Given the description of an element on the screen output the (x, y) to click on. 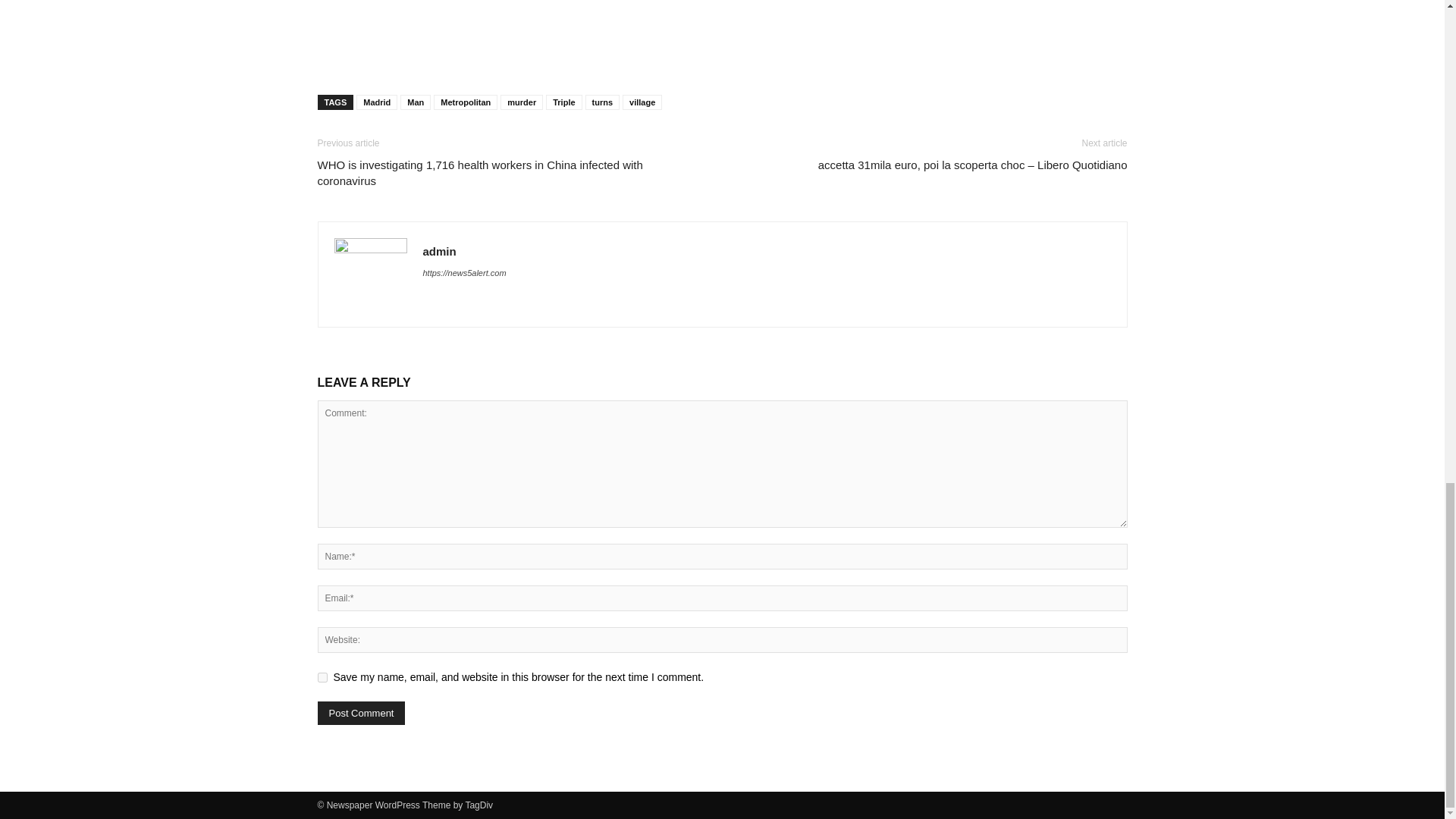
Triple (563, 102)
Man (415, 102)
Metropolitan (465, 102)
Madrid (376, 102)
Post Comment (360, 712)
admin (440, 250)
murder (521, 102)
village (642, 102)
yes (321, 677)
Post Comment (360, 712)
